Given the description of an element on the screen output the (x, y) to click on. 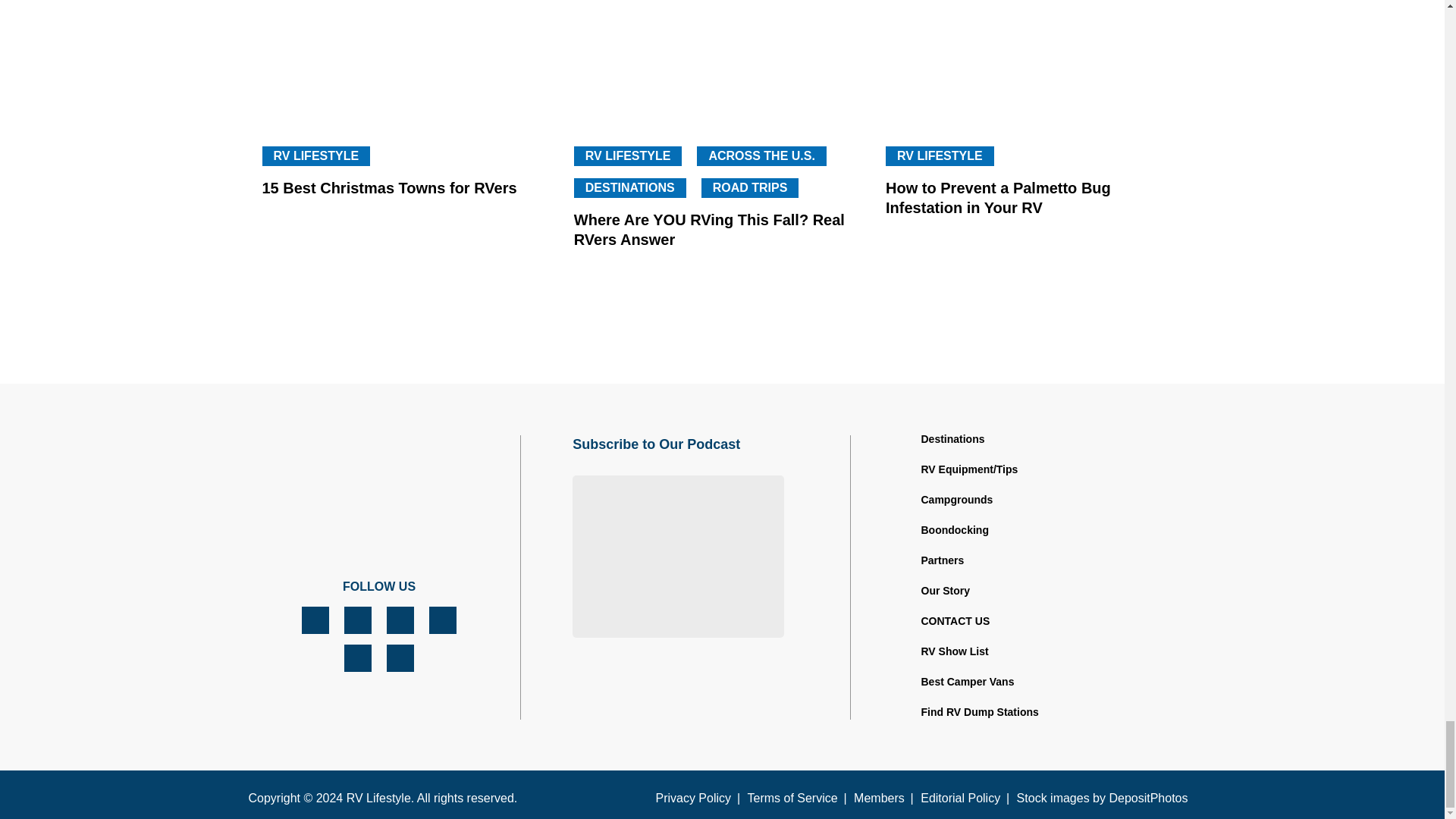
How to Prevent a Palmetto Bug Infestation in Your RV 8 (1033, 62)
Where Are YOU RVing This Fall? Real RVers Answer 7 (721, 62)
15 Best Christmas Towns for RVers 6 (410, 62)
